Given the description of an element on the screen output the (x, y) to click on. 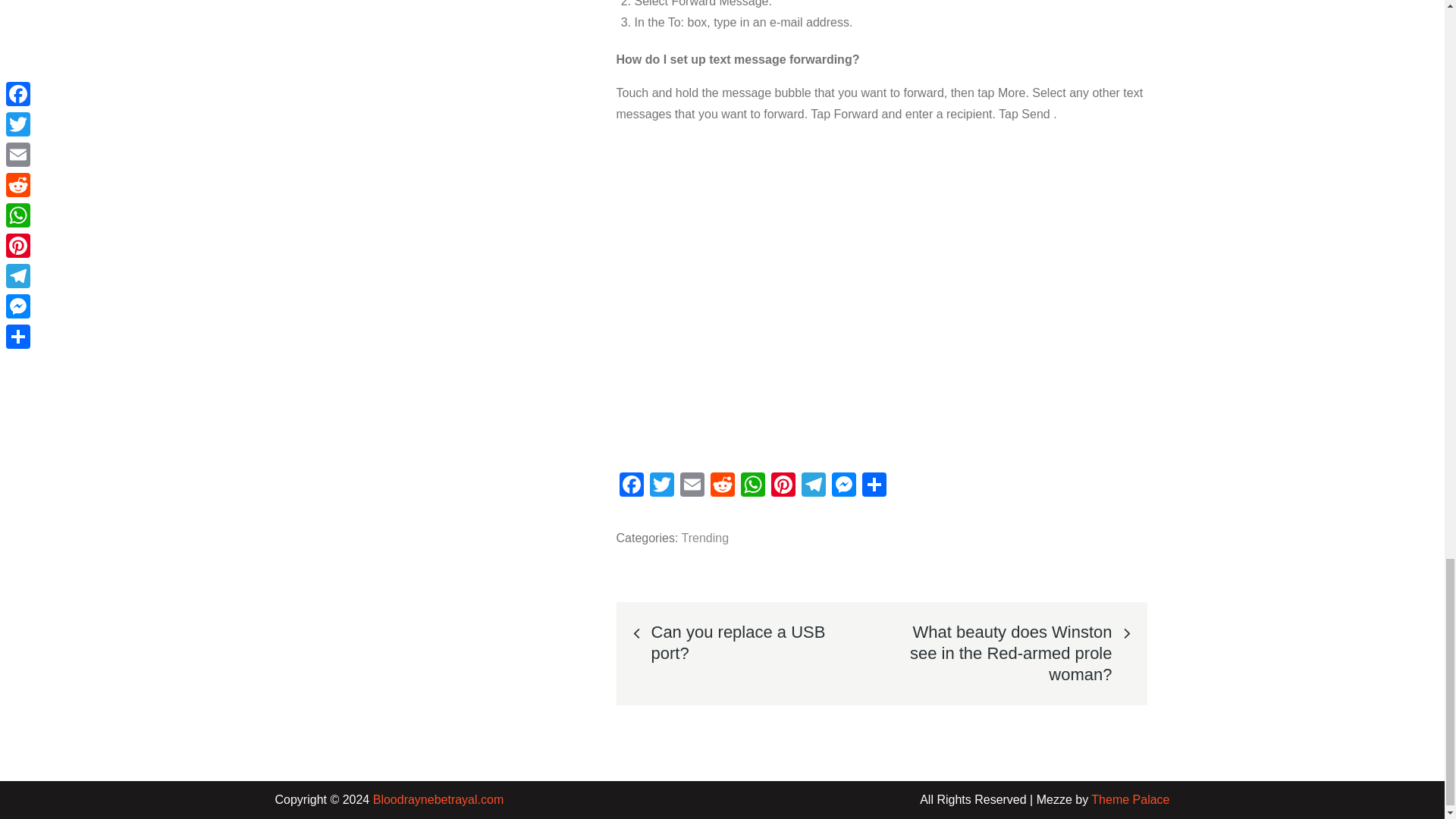
Messenger (843, 486)
Facebook (630, 486)
Email (691, 486)
Twitter (661, 486)
Pinterest (782, 486)
Pinterest (782, 486)
Email (691, 486)
Telegram (812, 486)
WhatsApp (751, 486)
